Given the description of an element on the screen output the (x, y) to click on. 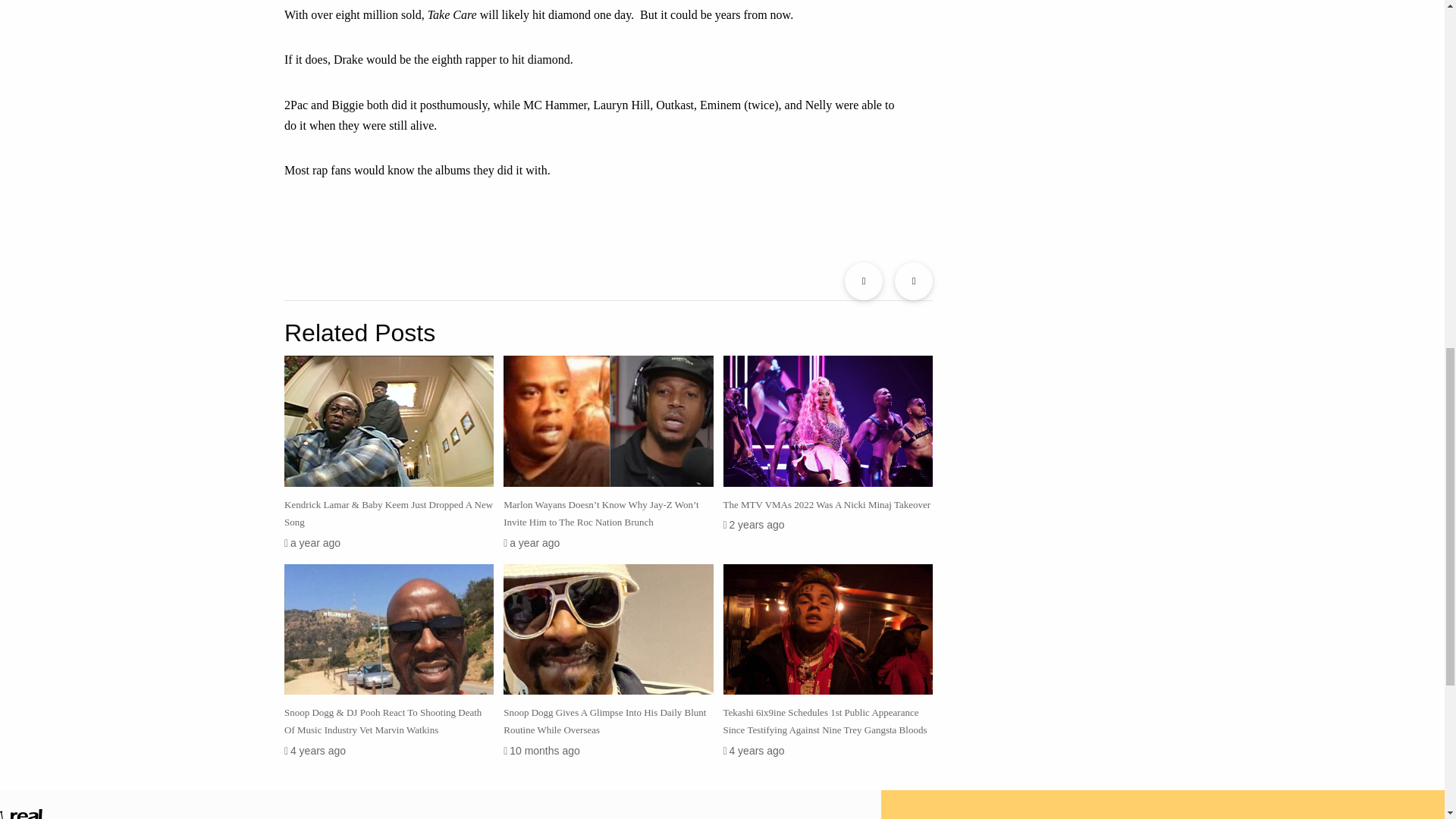
The MTV VMAs 2022 Was A Nicki Minaj Takeover (827, 504)
Next Post (914, 280)
Previous Post (863, 280)
